Given the description of an element on the screen output the (x, y) to click on. 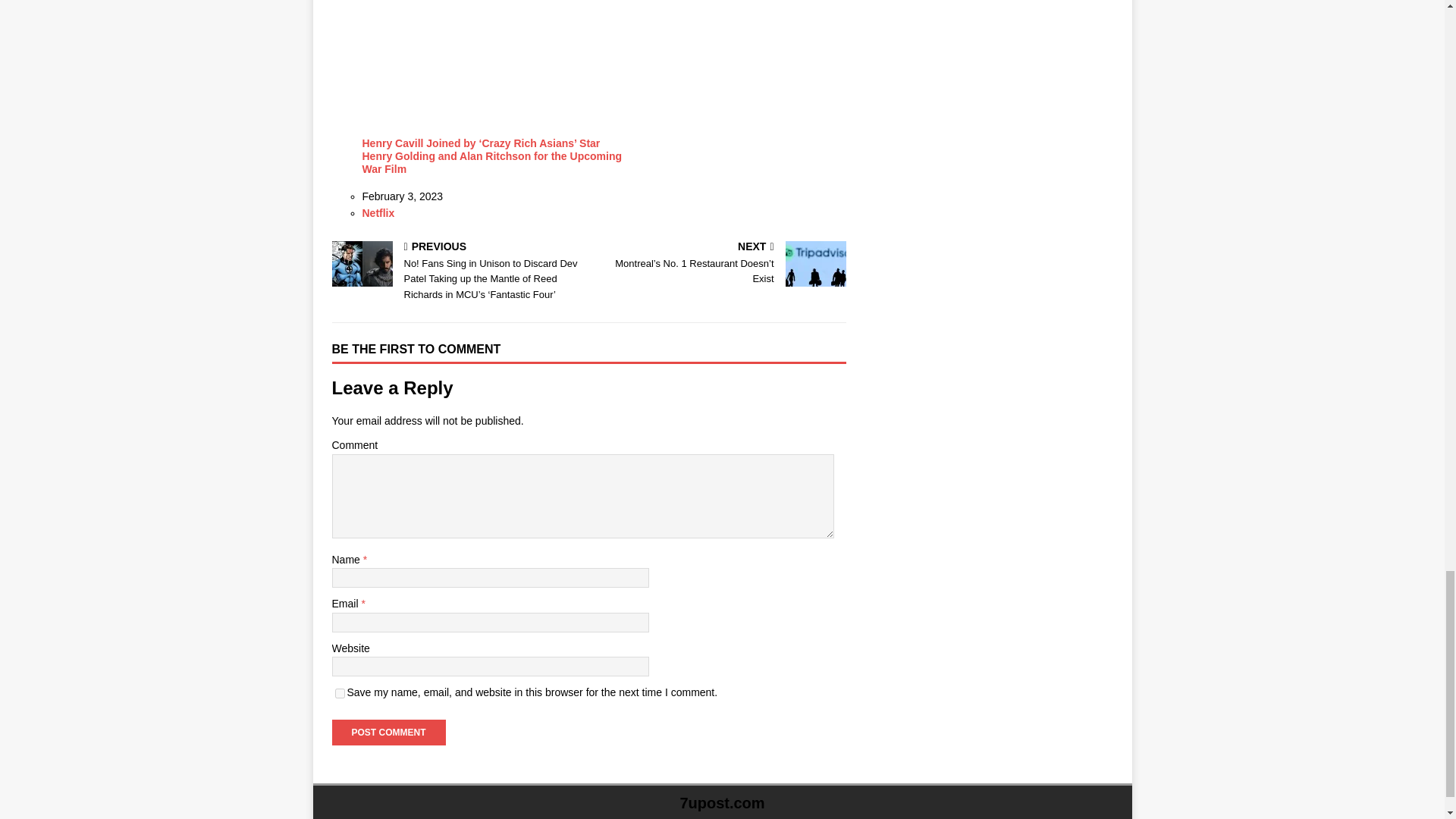
yes (339, 693)
Post Comment (388, 732)
Netflix (378, 213)
Post Comment (388, 732)
